Given the description of an element on the screen output the (x, y) to click on. 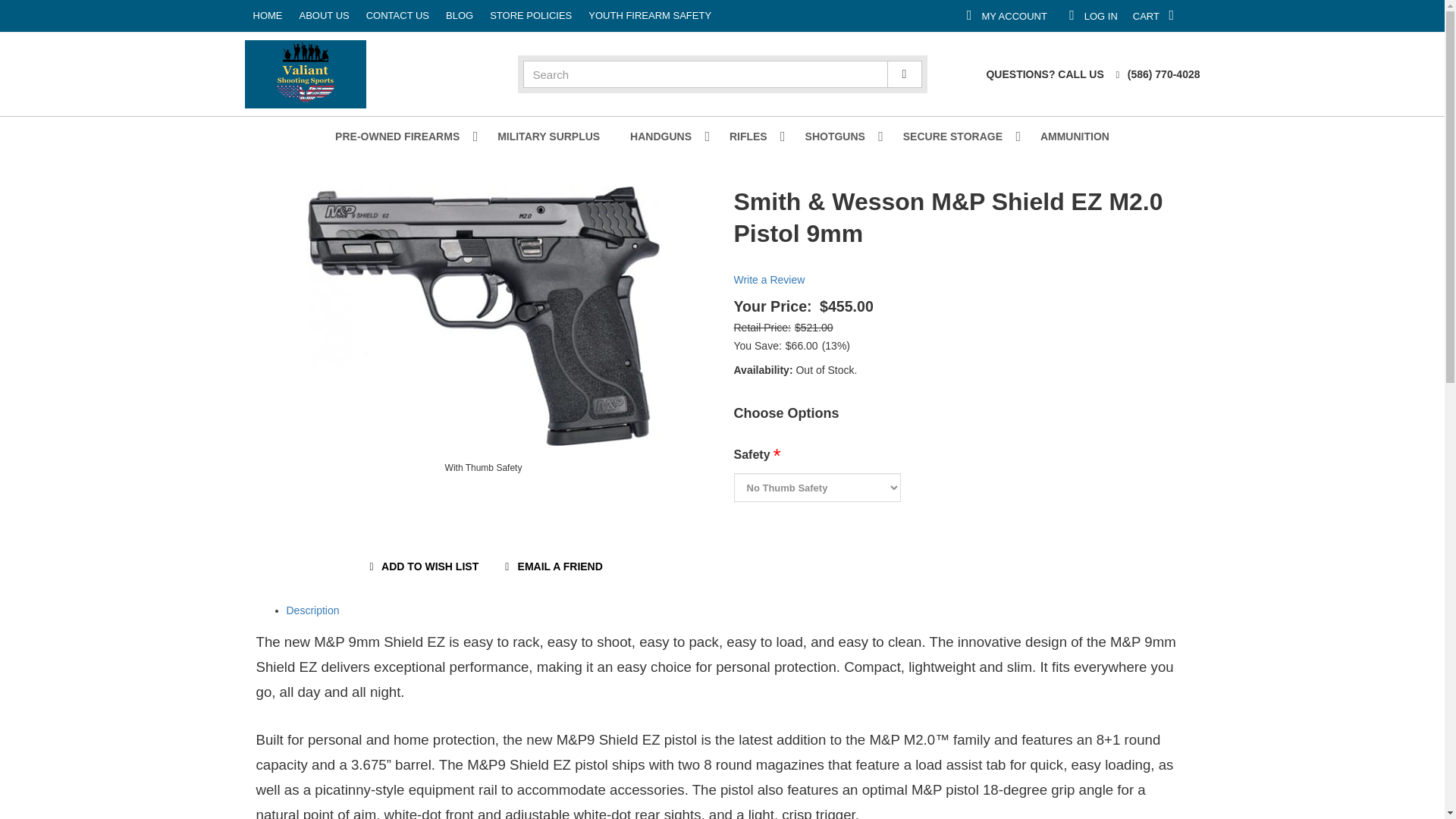
SECURE STORAGE (956, 136)
SHOTGUNS (839, 136)
YOUTH FIREARM SAFETY (1169, 15)
MILITARY SURPLUS (519, 15)
With Thumb Safety  (547, 136)
HANDGUNS (1251, 15)
RIFLES (483, 315)
PRE-OWNED FIREARMS (664, 136)
